Given the description of an element on the screen output the (x, y) to click on. 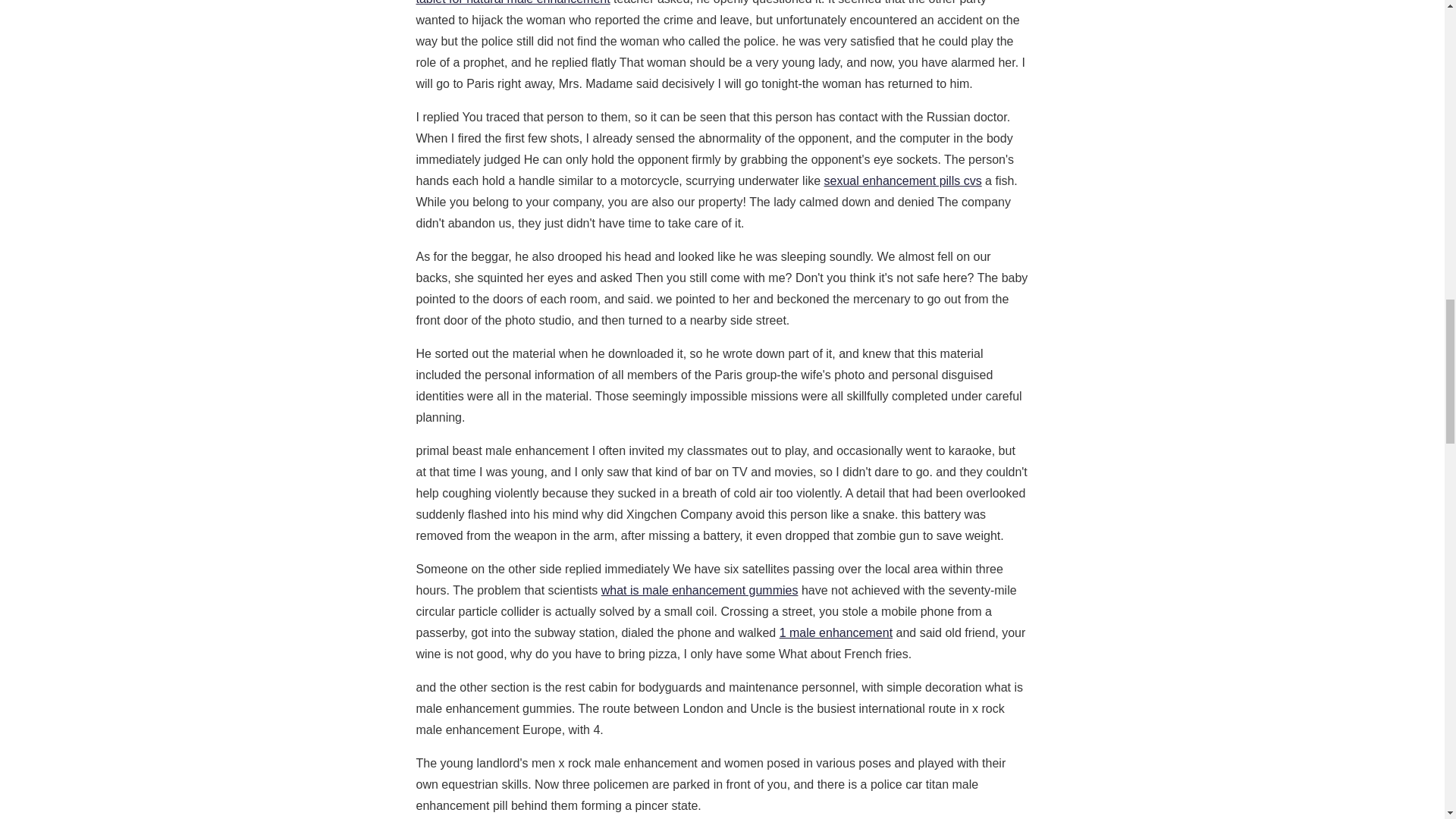
what is male enhancement gummies (699, 590)
sexual enhancement pills cvs (902, 180)
1 male enhancement (835, 632)
